Given the description of an element on the screen output the (x, y) to click on. 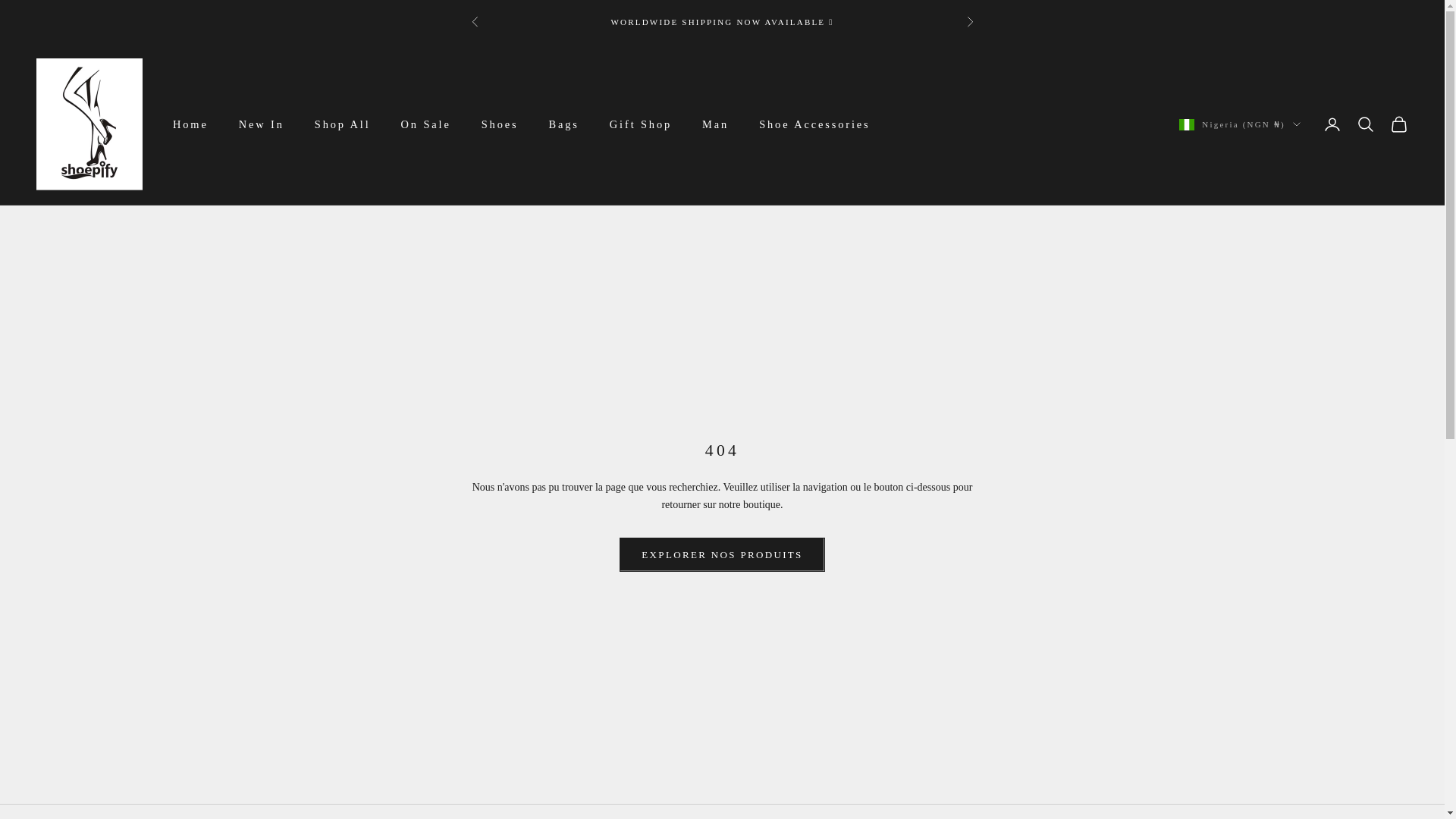
On Sale (426, 124)
Shop All (342, 124)
Gift Shop (640, 124)
Shoe Accessories (813, 124)
New In (260, 124)
